Given the description of an element on the screen output the (x, y) to click on. 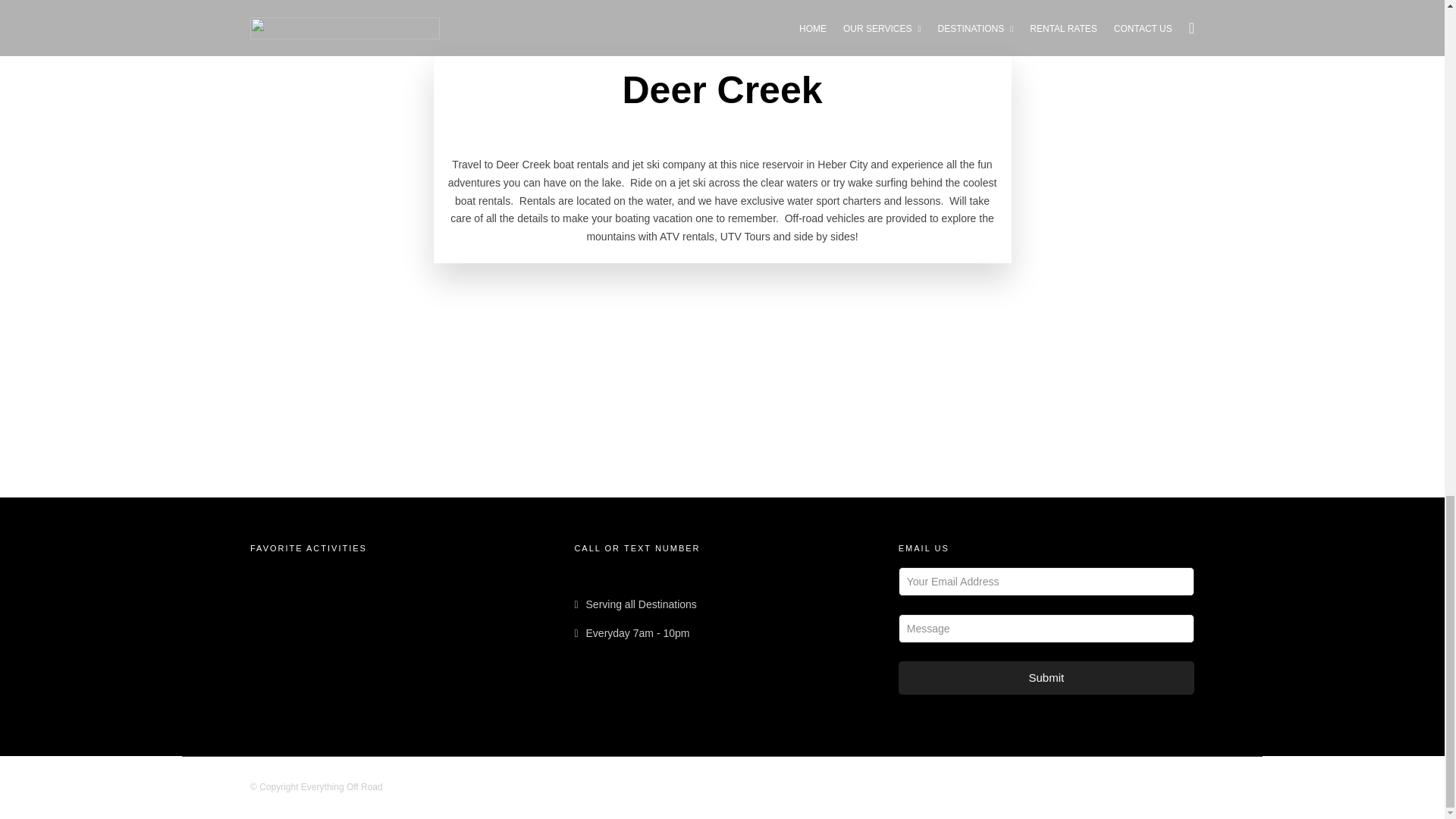
Submit (1045, 677)
